Given the description of an element on the screen output the (x, y) to click on. 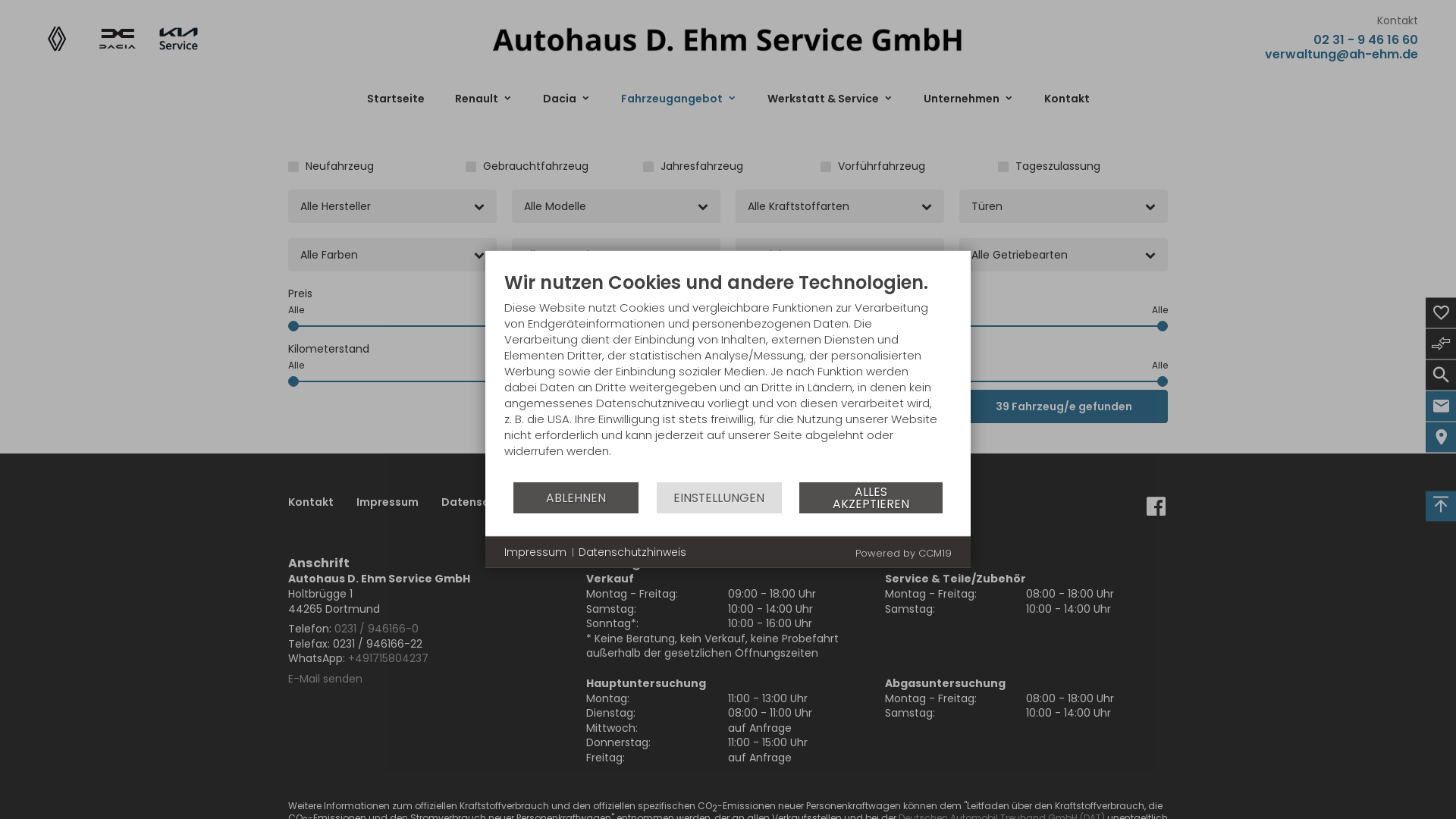
Startseite Element type: text (395, 98)
Unternehmen Element type: text (968, 98)
E-Mail senden Element type: text (325, 678)
Renault Element type: text (483, 98)
Suche speichern Element type: text (839, 406)
Impressum Element type: text (387, 502)
Weitere Informationen Element type: hover (727, 37)
Kontakt Element type: text (1066, 98)
Zu unserer Facebook-Seite Element type: hover (1156, 511)
Datenschutz Element type: text (477, 502)
EINSTELLUNGEN Element type: text (718, 497)
verwaltung@ah-ehm.de Element type: text (1341, 53)
ABLEHNEN Element type: text (575, 497)
Datenschutzhinweis Element type: text (632, 552)
Impressum Element type: text (535, 552)
Powered by CCM19 Element type: text (903, 553)
Kontakt Element type: text (310, 502)
ALLES AKZEPTIEREN Element type: text (870, 497)
Werkstatt & Service Element type: text (830, 98)
39 Fahrzeug/e gefunden Element type: text (1063, 406)
0231 / 946166-0 Element type: text (376, 628)
Erweiterte Suche Element type: text (615, 406)
02 31 - 9 46 16 60 Element type: text (1365, 38)
Fahrzeugangebot Element type: text (678, 98)
Dacia Element type: text (566, 98)
AGB Element type: text (548, 502)
+491715804237 Element type: text (388, 657)
CMS by Modix Element type: text (621, 502)
